Given the description of an element on the screen output the (x, y) to click on. 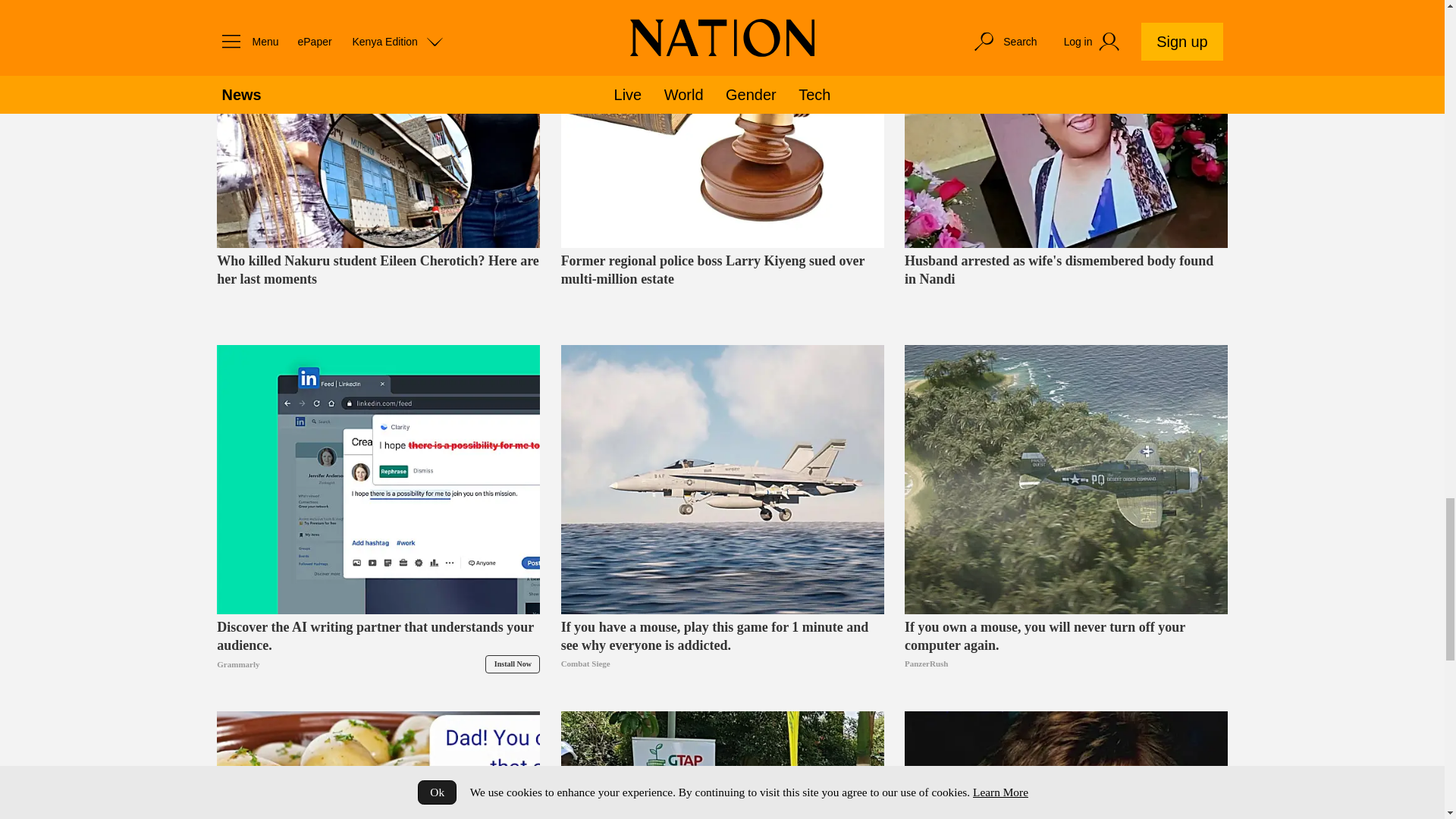
Husband arrested as wife's dismembered body found in Nandi (1065, 287)
Husband arrested as wife's dismembered body found in Nandi (1065, 123)
